Given the description of an element on the screen output the (x, y) to click on. 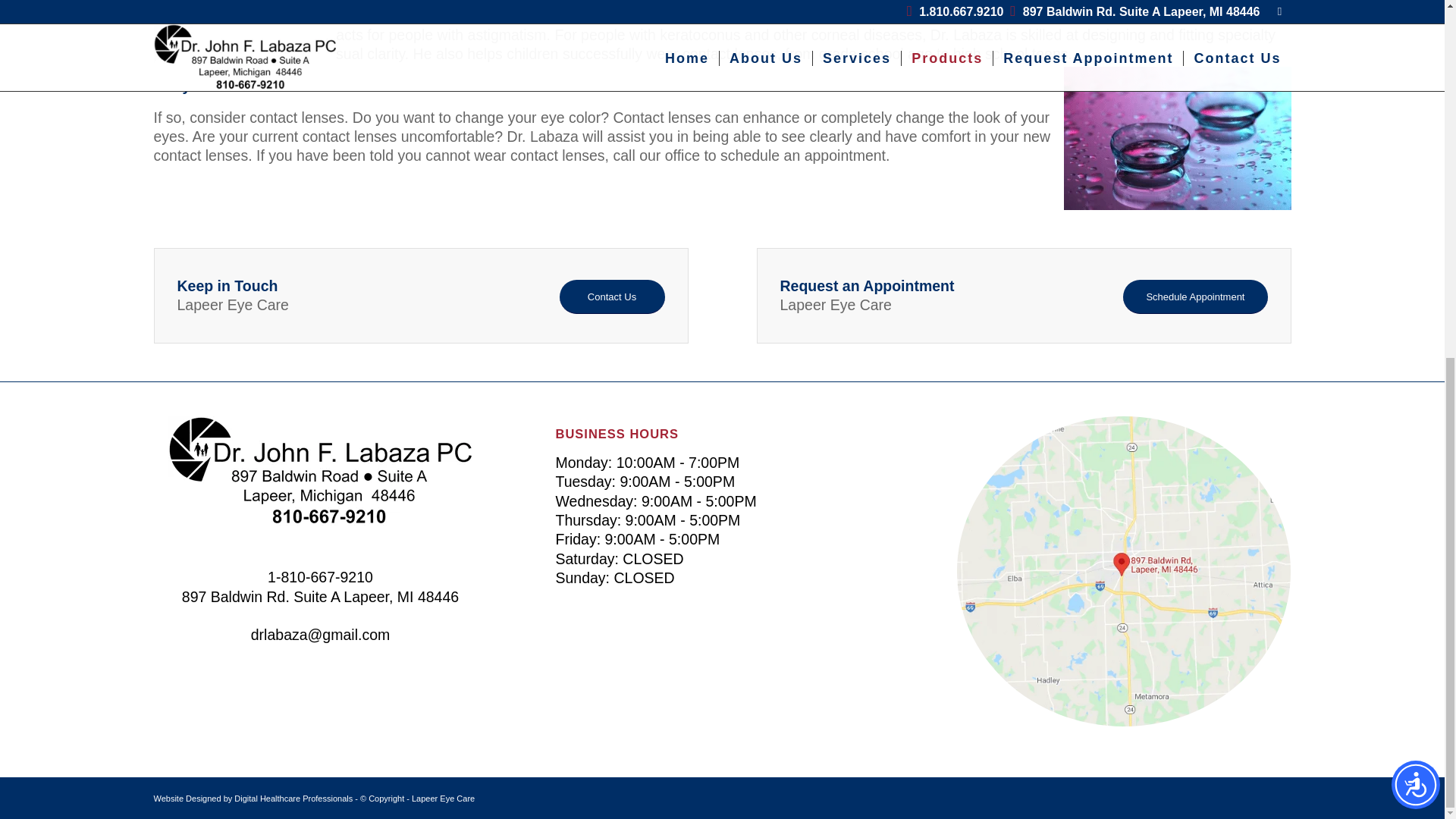
Schedule Appointment (1194, 296)
Accessibility Menu (1415, 153)
Contact Us (612, 296)
